Given the description of an element on the screen output the (x, y) to click on. 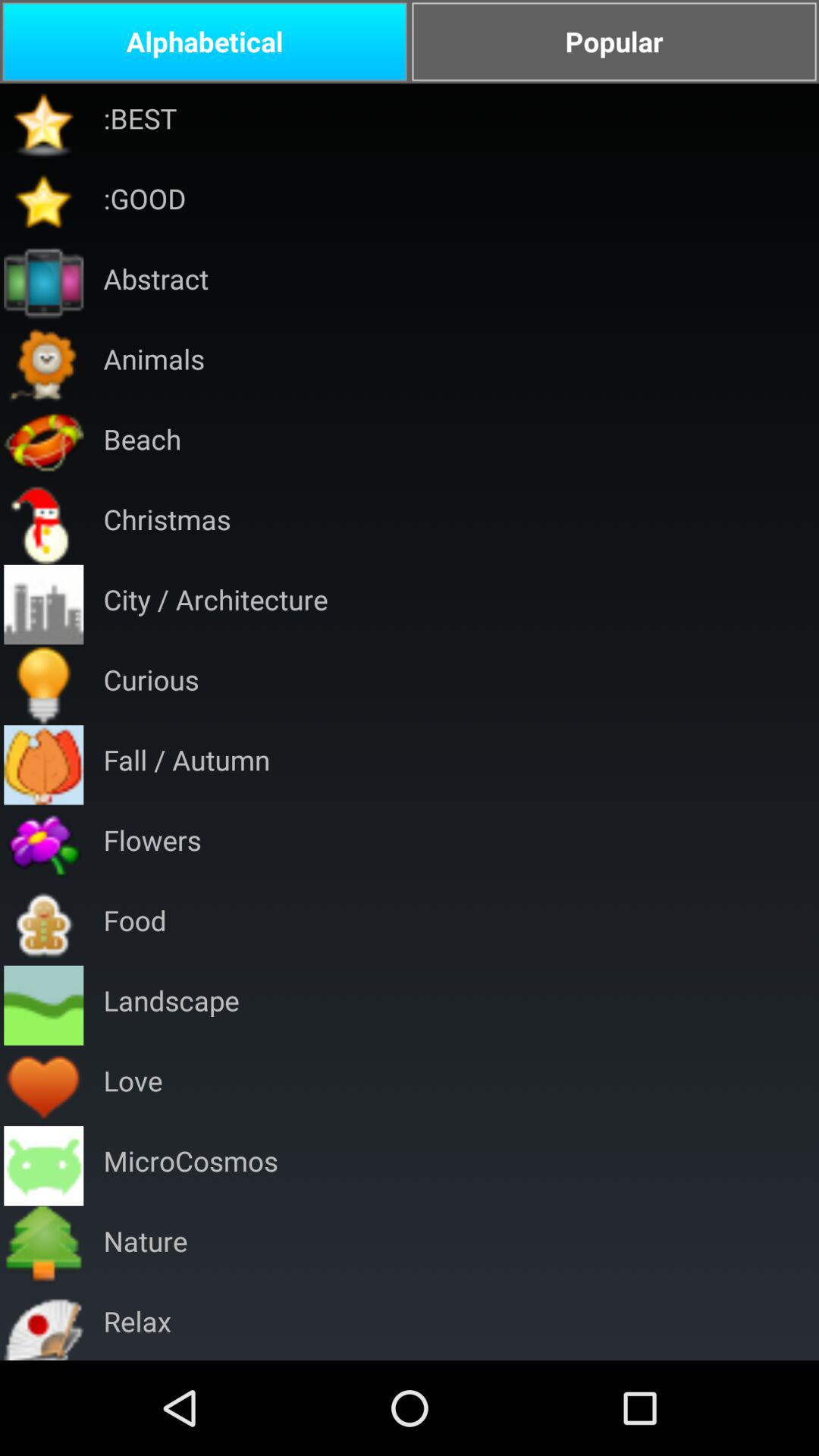
turn off animals app (153, 363)
